Given the description of an element on the screen output the (x, y) to click on. 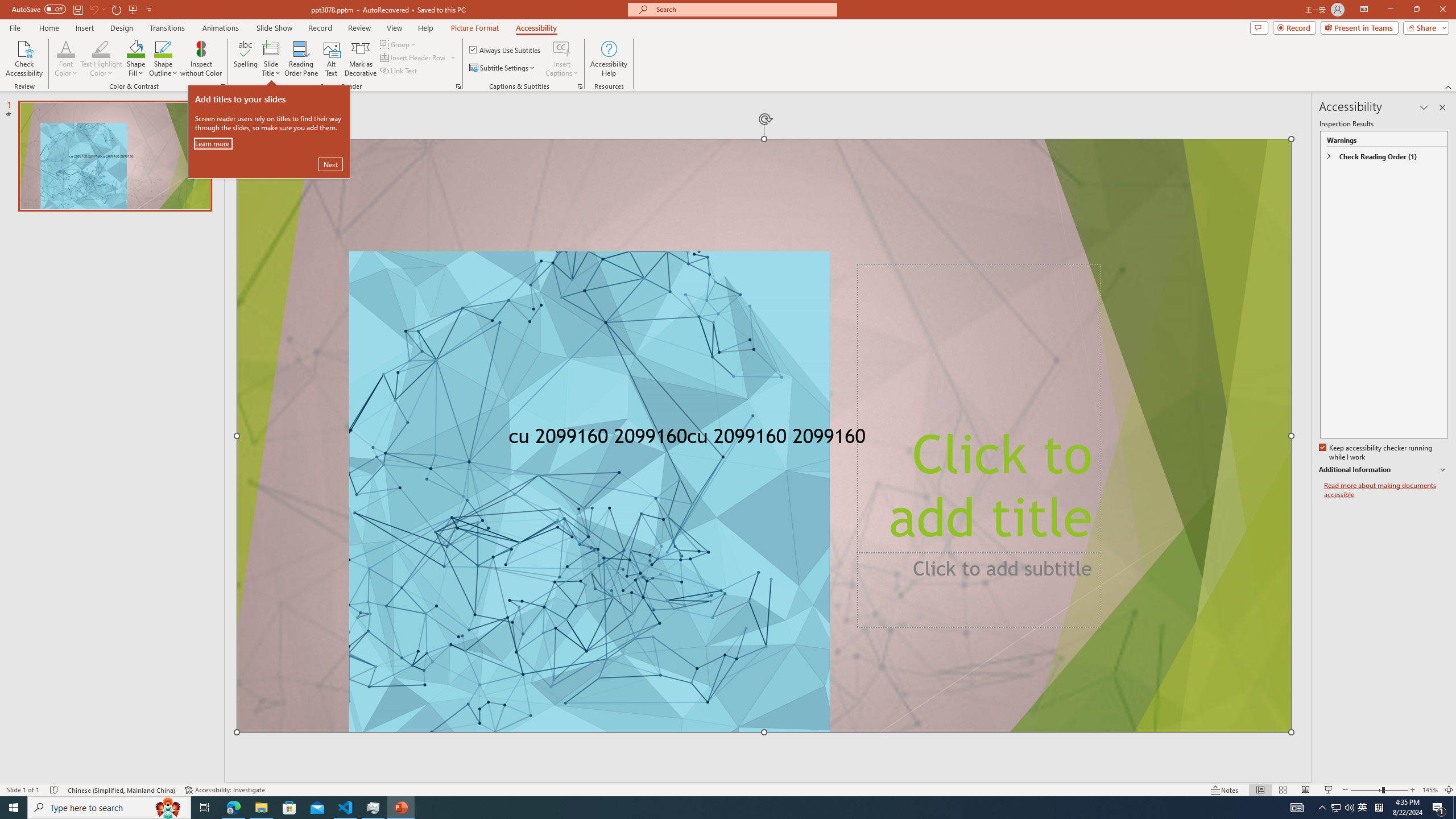
Insert Captions (561, 48)
Spelling... (245, 58)
Slide Title (271, 58)
Slide Title (271, 48)
